Given the description of an element on the screen output the (x, y) to click on. 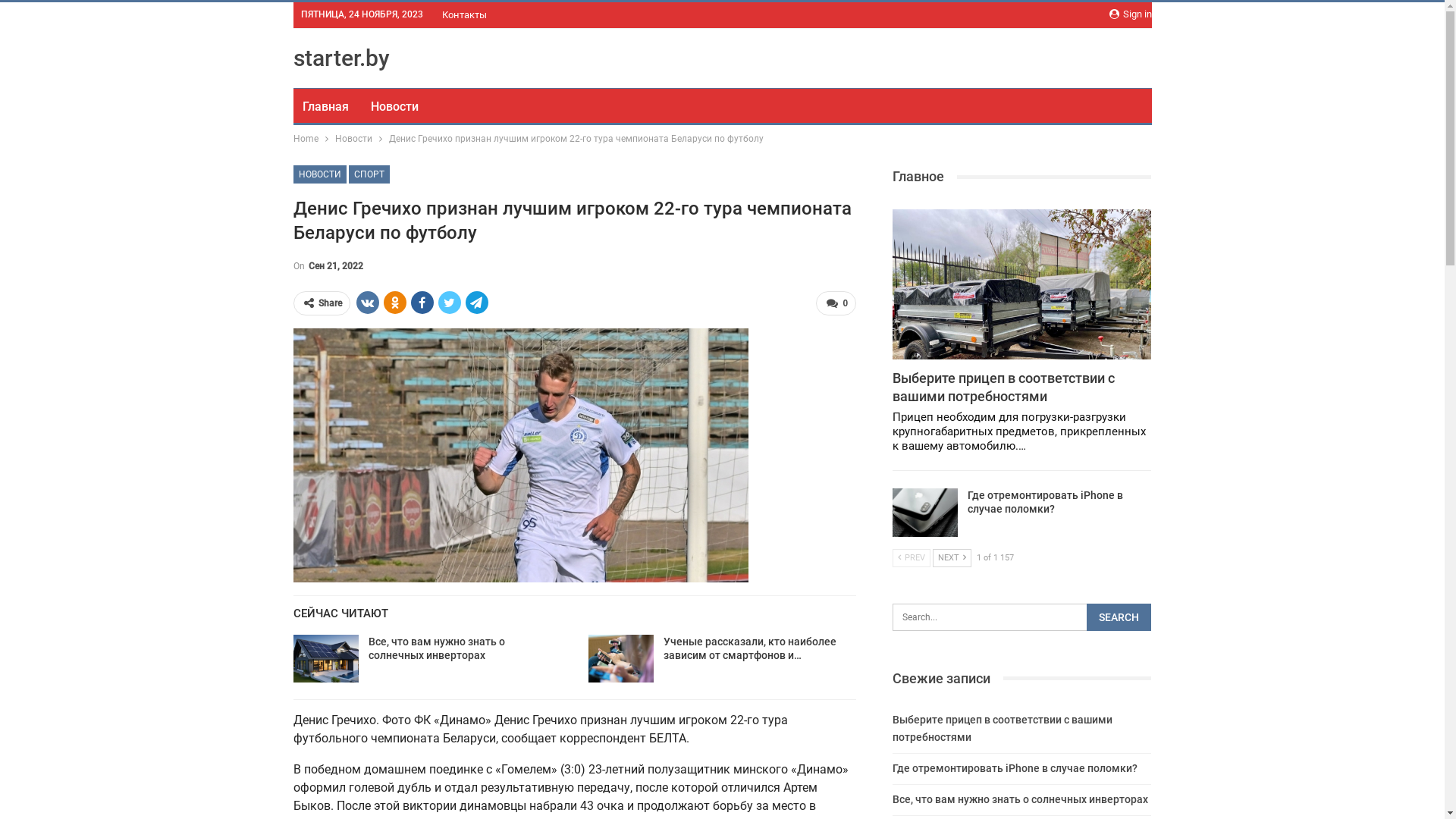
Sign in Element type: text (1129, 14)
Search for: Element type: hover (1021, 616)
Home Element type: text (304, 138)
PREV Element type: text (911, 558)
0 Element type: text (835, 303)
Search Element type: text (1118, 616)
NEXT Element type: text (951, 558)
starter.by Element type: text (340, 57)
